Given the description of an element on the screen output the (x, y) to click on. 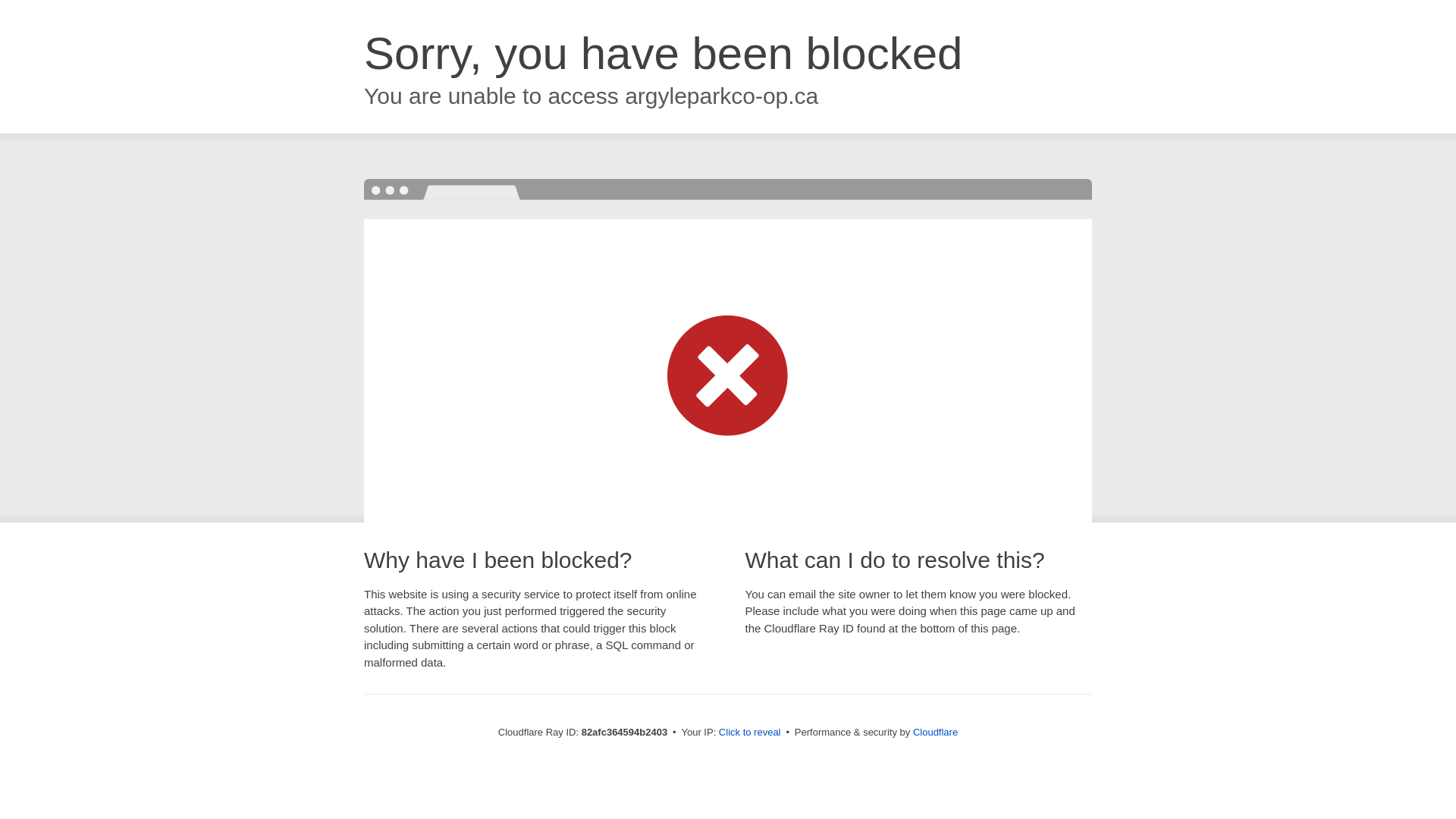
Click to reveal Element type: text (749, 732)
Cloudflare Element type: text (935, 731)
